Given the description of an element on the screen output the (x, y) to click on. 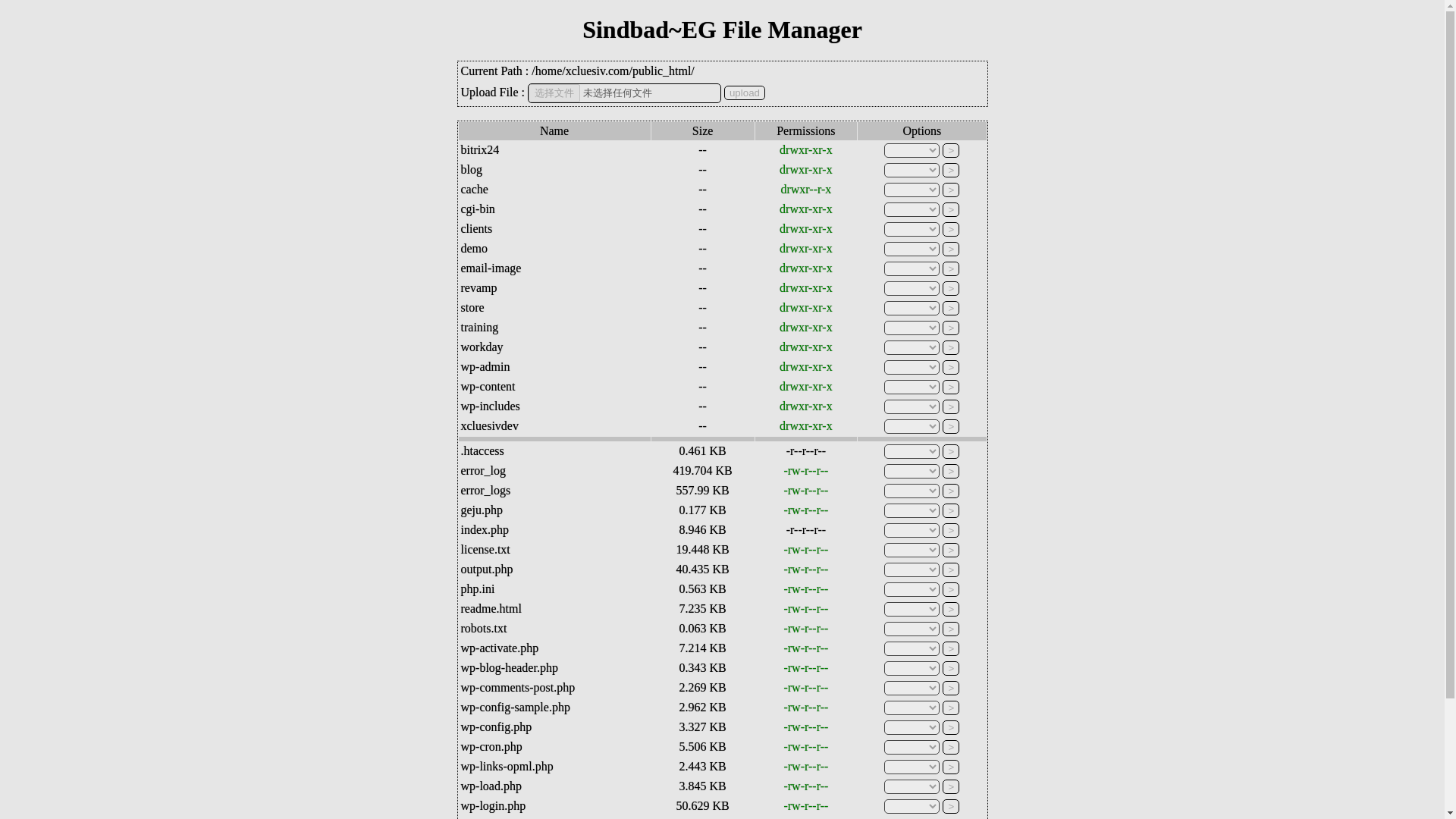
.htaccess (482, 450)
wp-admin (486, 366)
upload (744, 92)
email-image (491, 267)
upload (744, 92)
store (472, 307)
blog (471, 169)
home (548, 70)
xcluesivdev (489, 425)
wp-content (488, 386)
xcluesiv.com (597, 70)
wp-includes (490, 405)
bitrix24 (480, 149)
clients (477, 228)
revamp (479, 287)
